Given the description of an element on the screen output the (x, y) to click on. 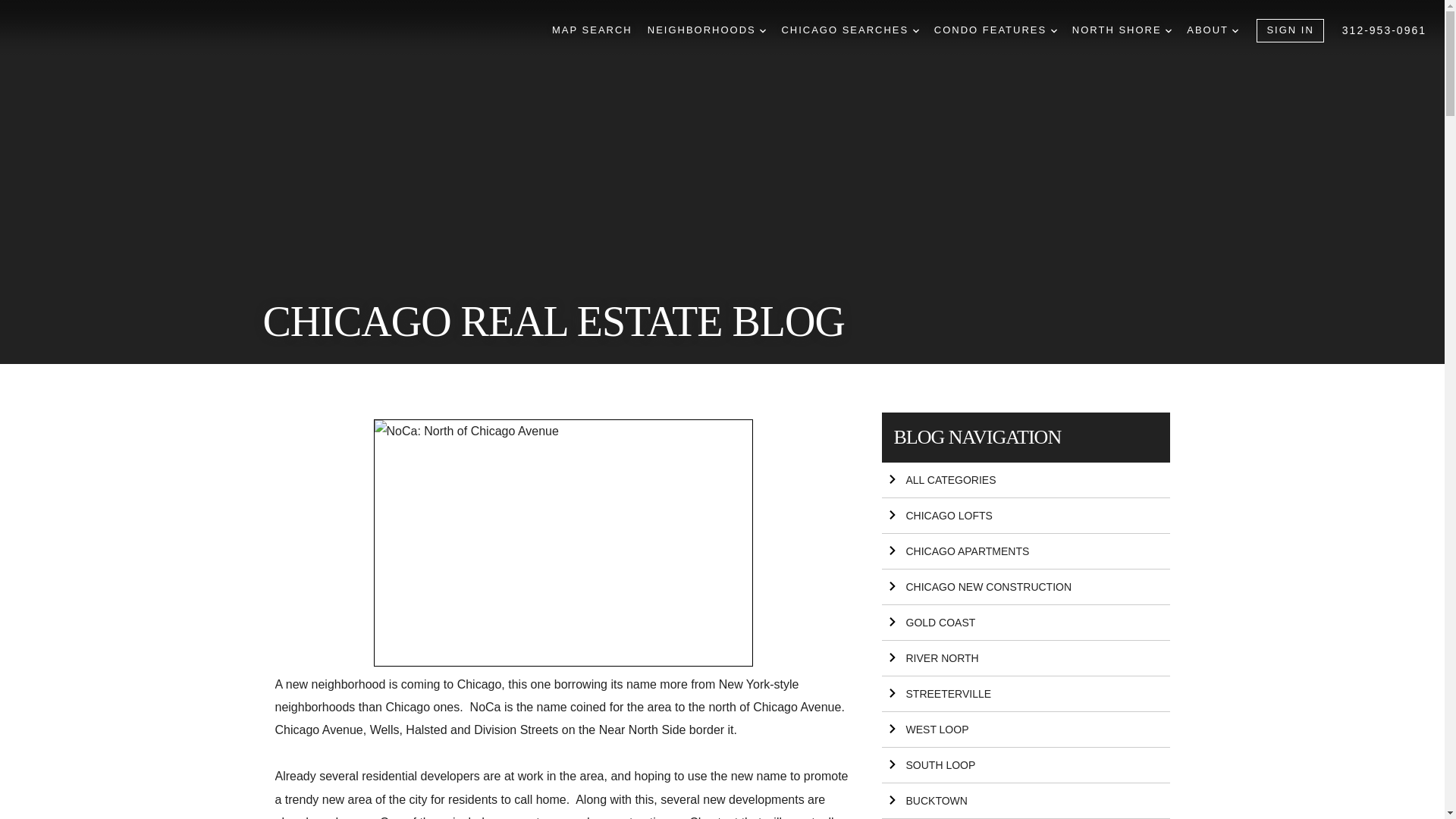
DROPDOWN ARROW (915, 30)
DROPDOWN ARROW (1054, 30)
DROPDOWN ARROW (1169, 30)
DROPDOWN ARROW (1235, 30)
NEIGHBORHOODS DROPDOWN ARROW (707, 30)
DROPDOWN ARROW (762, 30)
CHICAGO SEARCHES DROPDOWN ARROW (849, 30)
NoCa: North of Chicago Avenue (562, 542)
MAP SEARCH (591, 30)
